Given the description of an element on the screen output the (x, y) to click on. 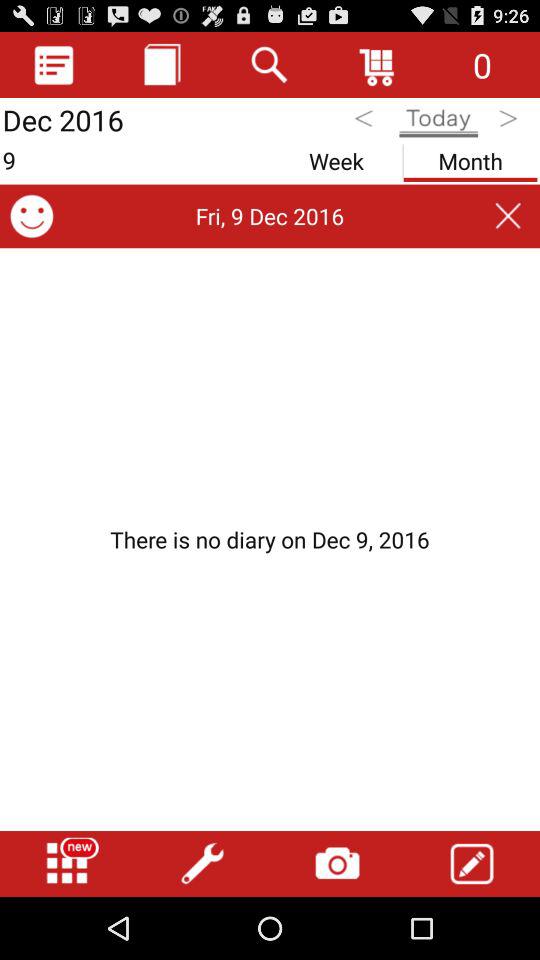
go to previous (366, 121)
